Given the description of an element on the screen output the (x, y) to click on. 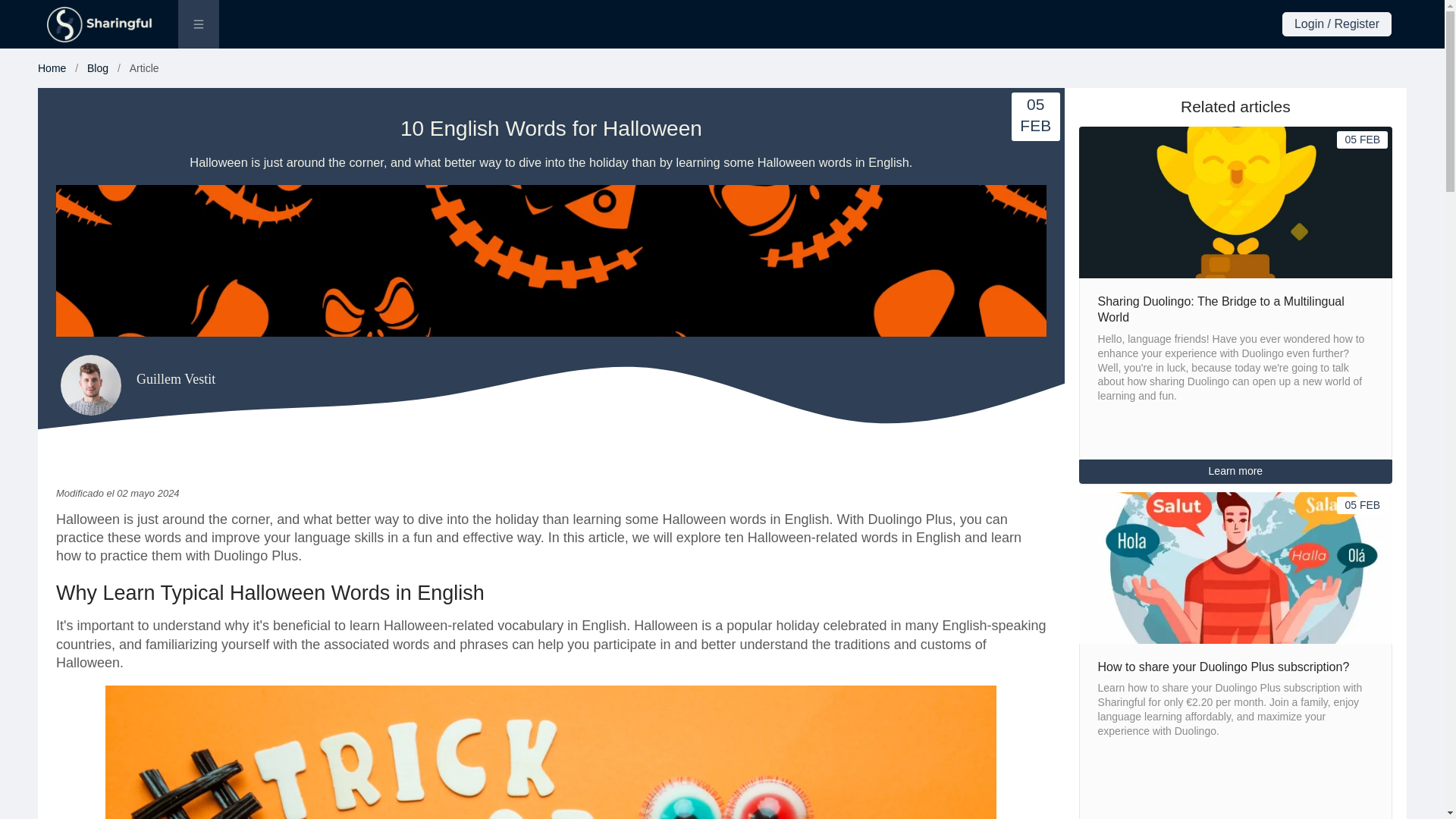
Learn more (1235, 470)
Home (51, 68)
Learn more (1235, 471)
Article (143, 68)
Blog (97, 68)
